Given the description of an element on the screen output the (x, y) to click on. 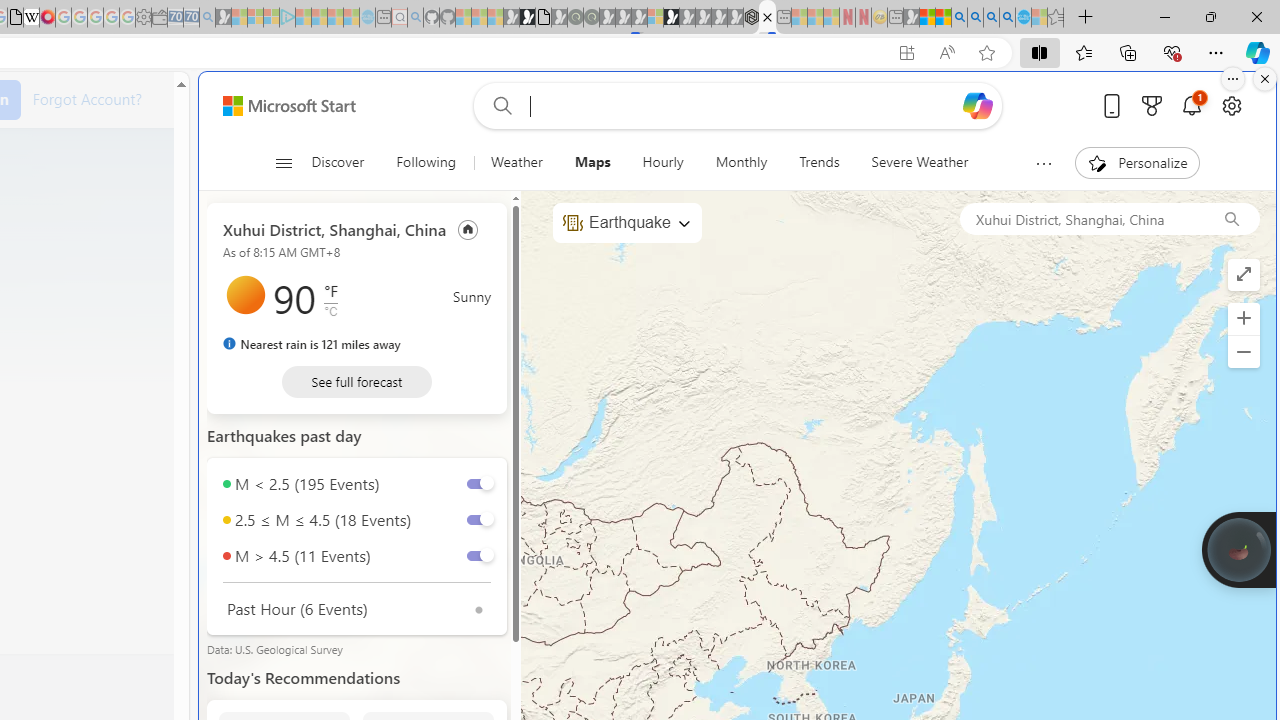
Nearest rain is 121 miles away (311, 344)
Settings - Sleeping (143, 17)
Close tab (767, 16)
Maps (592, 162)
Open navigation menu (283, 162)
Class: button-glyph (283, 162)
Trends (819, 162)
Cheap Car Rentals - Save70.com - Sleeping (191, 17)
Settings and more (Alt+F) (1215, 52)
New tab - Sleeping (895, 17)
Microsoft Start - Sleeping (335, 17)
